Given the description of an element on the screen output the (x, y) to click on. 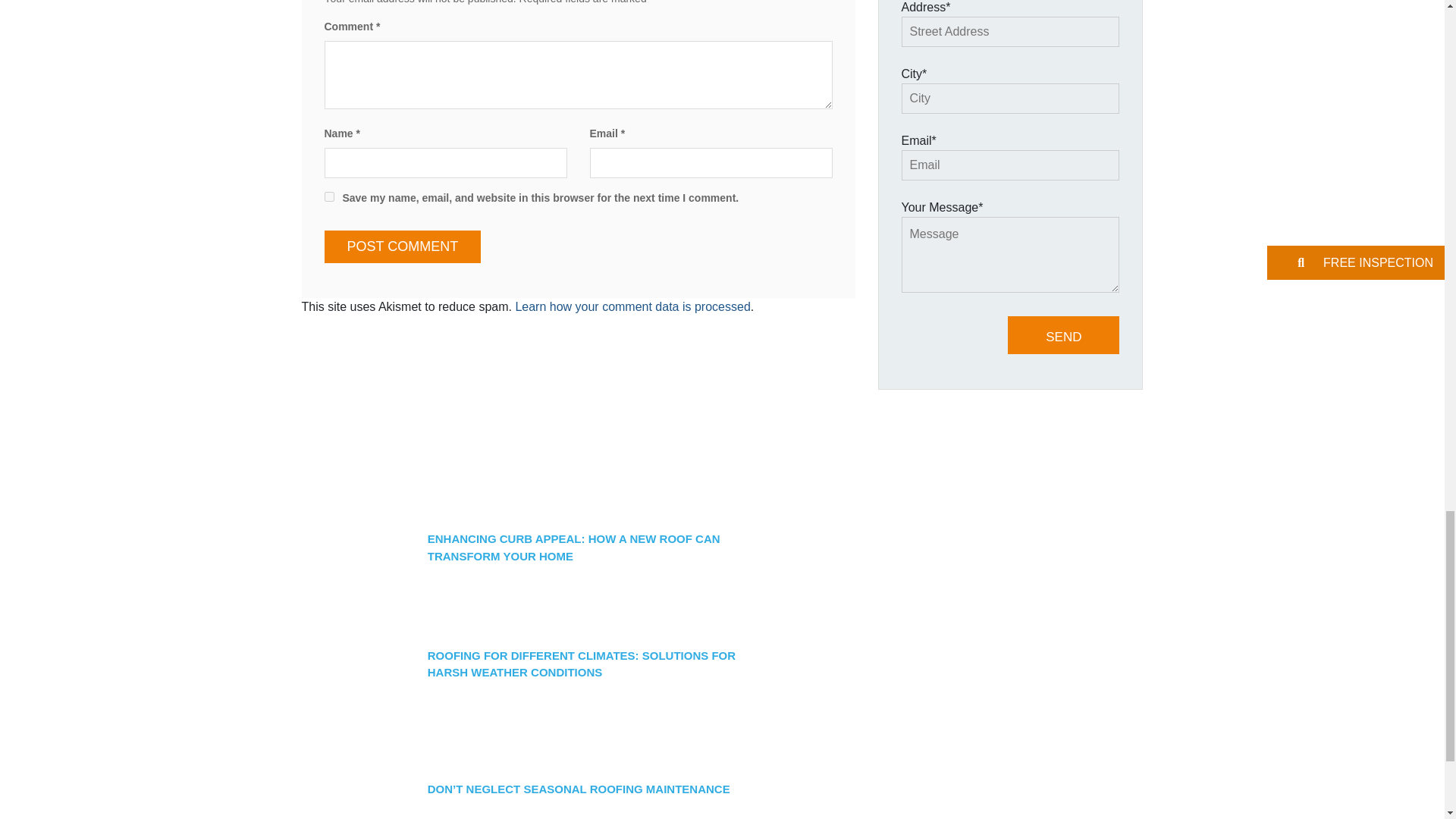
Send (1063, 335)
yes (329, 196)
Post Comment (402, 246)
